Given the description of an element on the screen output the (x, y) to click on. 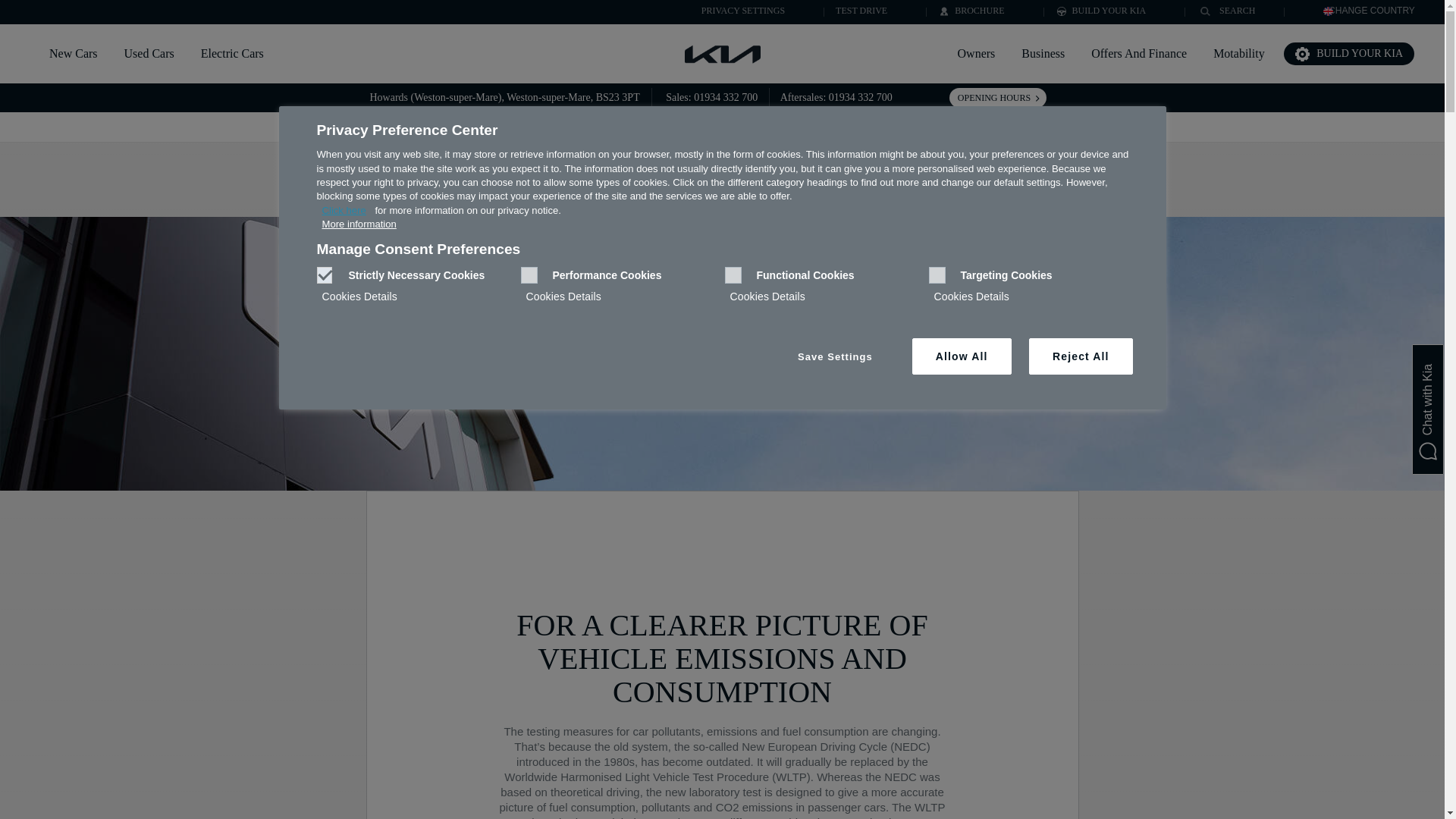
CHANGE COUNTRY (1369, 9)
Search (1208, 14)
BROCHURE (970, 9)
BUILD YOUR KIA (1101, 9)
TEST DRIVE (860, 9)
PRIVACY SETTINGS (734, 9)
